Given the description of an element on the screen output the (x, y) to click on. 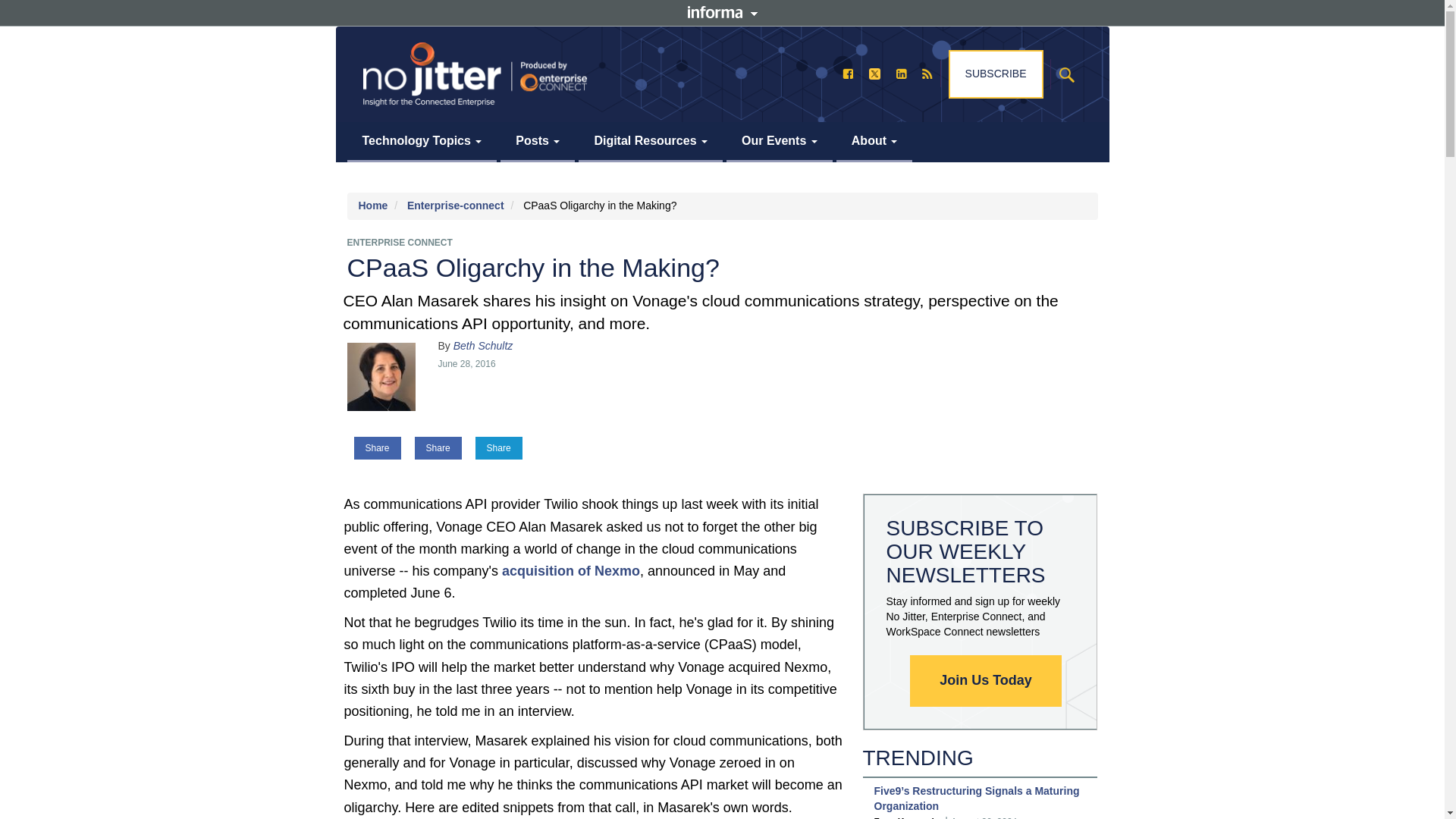
Our Events (779, 142)
Posts (537, 142)
Informa (722, 11)
Find No Jitter on LinkedIn (901, 73)
Find No Jitter on LinkedIn (901, 73)
Beth Schultz (380, 372)
No Jitter - Home (475, 74)
Technology Topics (422, 142)
Toggle Search (1067, 73)
